Given the description of an element on the screen output the (x, y) to click on. 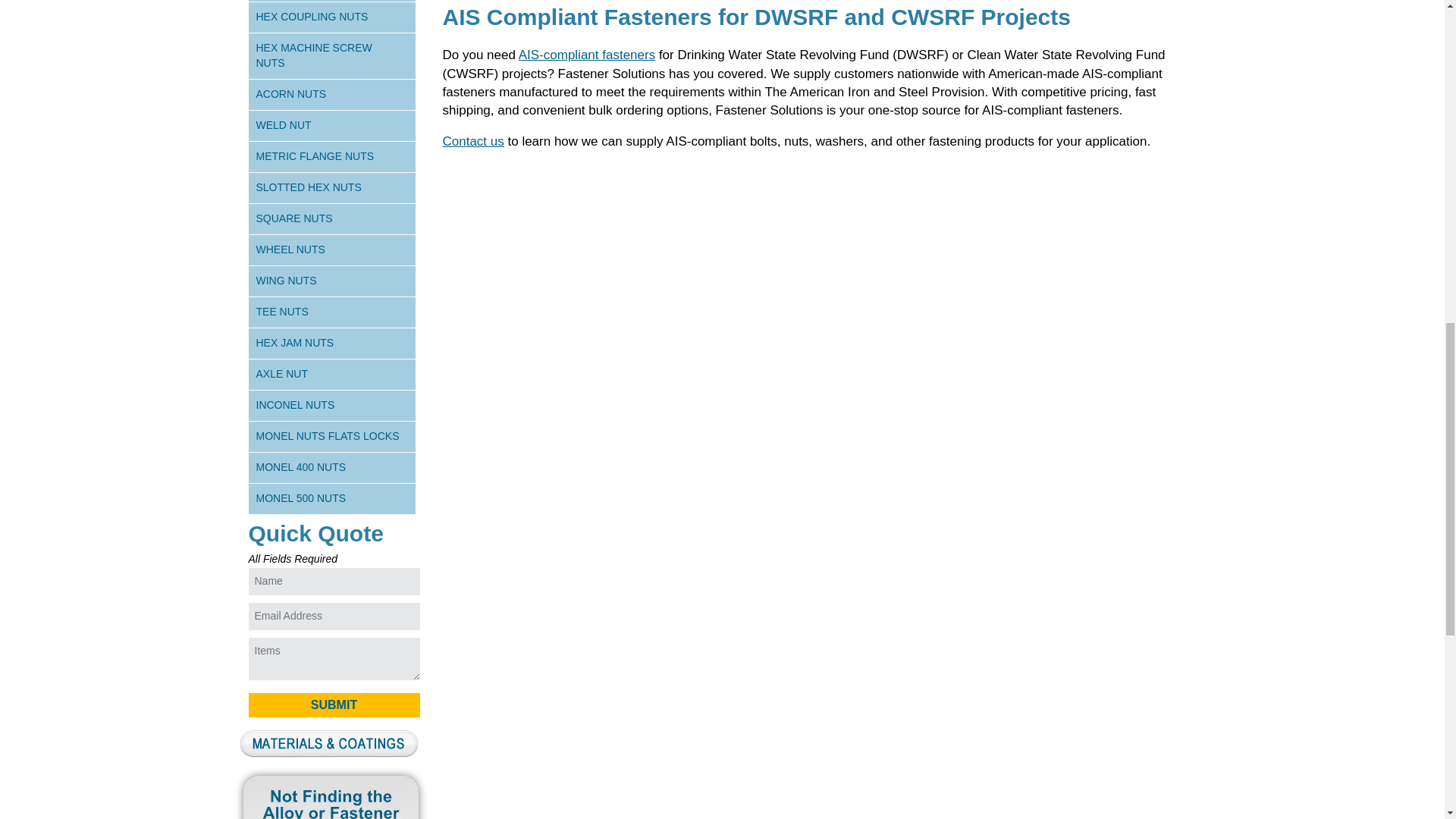
SUBMIT (334, 704)
